Given the description of an element on the screen output the (x, y) to click on. 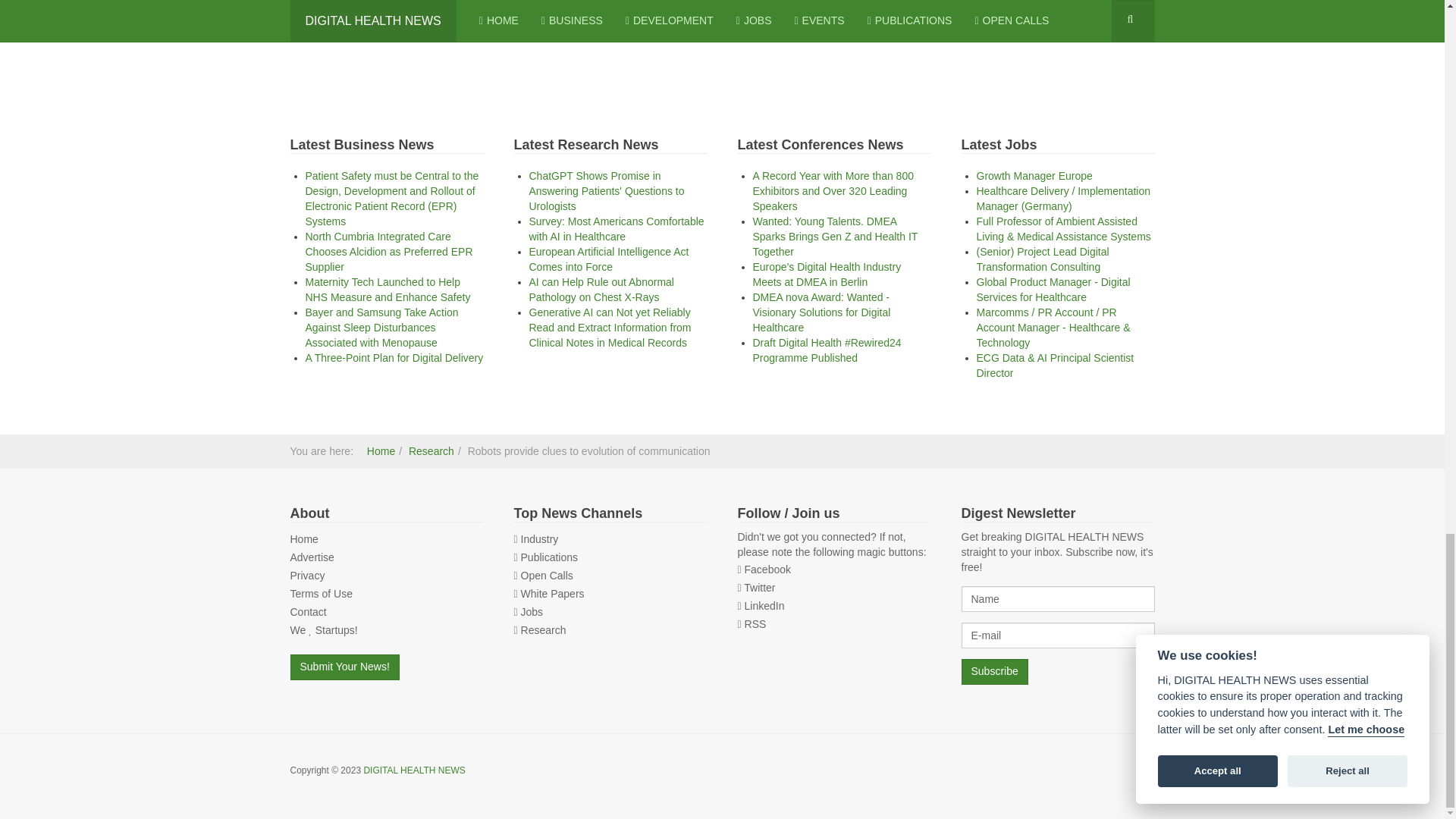
Name (1057, 598)
E-mail (1057, 635)
Subscribe (993, 671)
European Artificial Intelligence Act Comes into Force (608, 258)
Name (1057, 598)
E-mail (1057, 635)
Survey: Most Americans Comfortable with AI in Healthcare (616, 228)
Linkedin (764, 605)
